Given the description of an element on the screen output the (x, y) to click on. 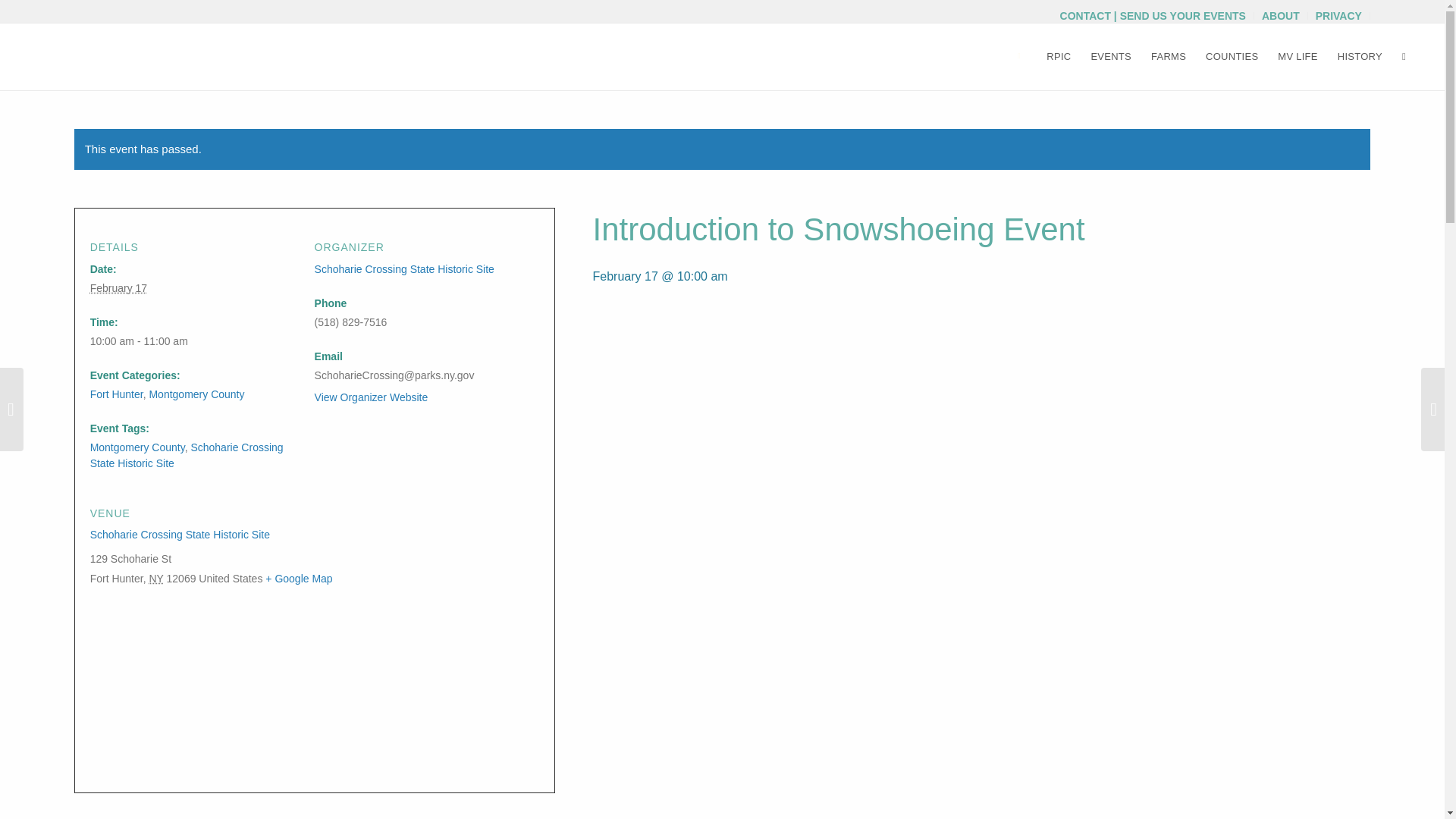
EVENTS (1110, 56)
ABOUT (1281, 15)
2024-02-17 (118, 287)
2024-02-17 (193, 341)
PRIVACY (1338, 15)
COUNTIES (1231, 56)
Schoharie Crossing State Historic Site (404, 268)
